Given the description of an element on the screen output the (x, y) to click on. 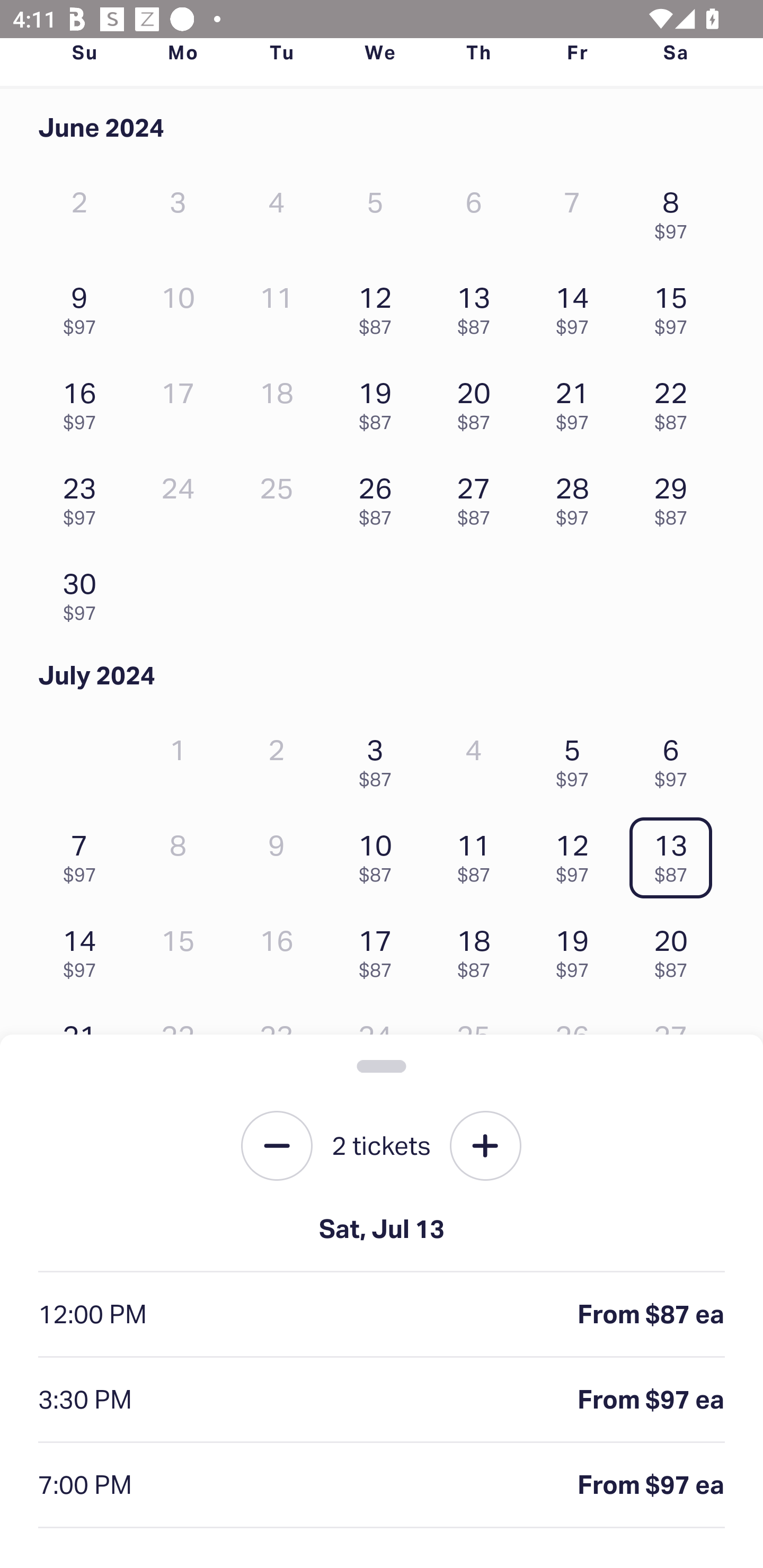
8 $97 (675, 210)
9 $97 (84, 306)
12 $87 (379, 306)
13 $87 (478, 306)
14 $97 (577, 306)
15 $97 (675, 306)
16 $97 (84, 401)
19 $87 (379, 401)
20 $87 (478, 401)
21 $97 (577, 401)
22 $87 (675, 401)
23 $97 (84, 496)
26 $87 (379, 496)
27 $87 (478, 496)
28 $97 (577, 496)
29 $87 (675, 496)
30 $97 (84, 591)
3 $87 (379, 757)
5 $97 (577, 757)
6 $97 (675, 757)
7 $97 (84, 853)
10 $87 (379, 853)
11 $87 (478, 853)
12 $97 (577, 853)
13 $87 (675, 853)
14 $97 (84, 949)
17 $87 (379, 949)
18 $87 (478, 949)
19 $97 (577, 949)
20 $87 (675, 949)
12:00 PM From $87 ea (381, 1314)
3:30 PM From $97 ea (381, 1399)
7:00 PM From $97 ea (381, 1485)
